Given the description of an element on the screen output the (x, y) to click on. 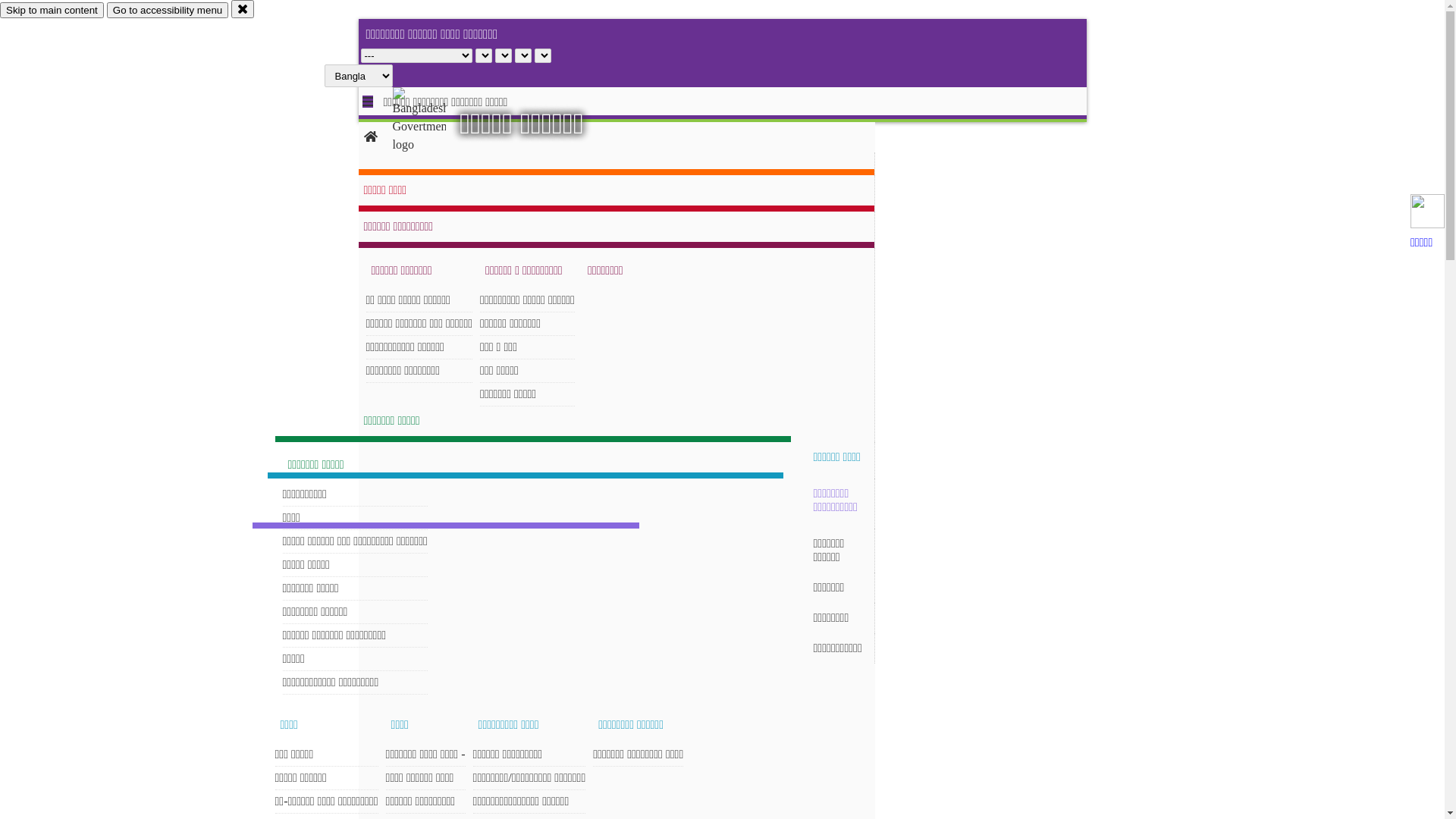
Skip to main content Element type: text (51, 10)
close Element type: hover (242, 9)
Go to accessibility menu Element type: text (167, 10)

                
             Element type: hover (431, 120)
